Given the description of an element on the screen output the (x, y) to click on. 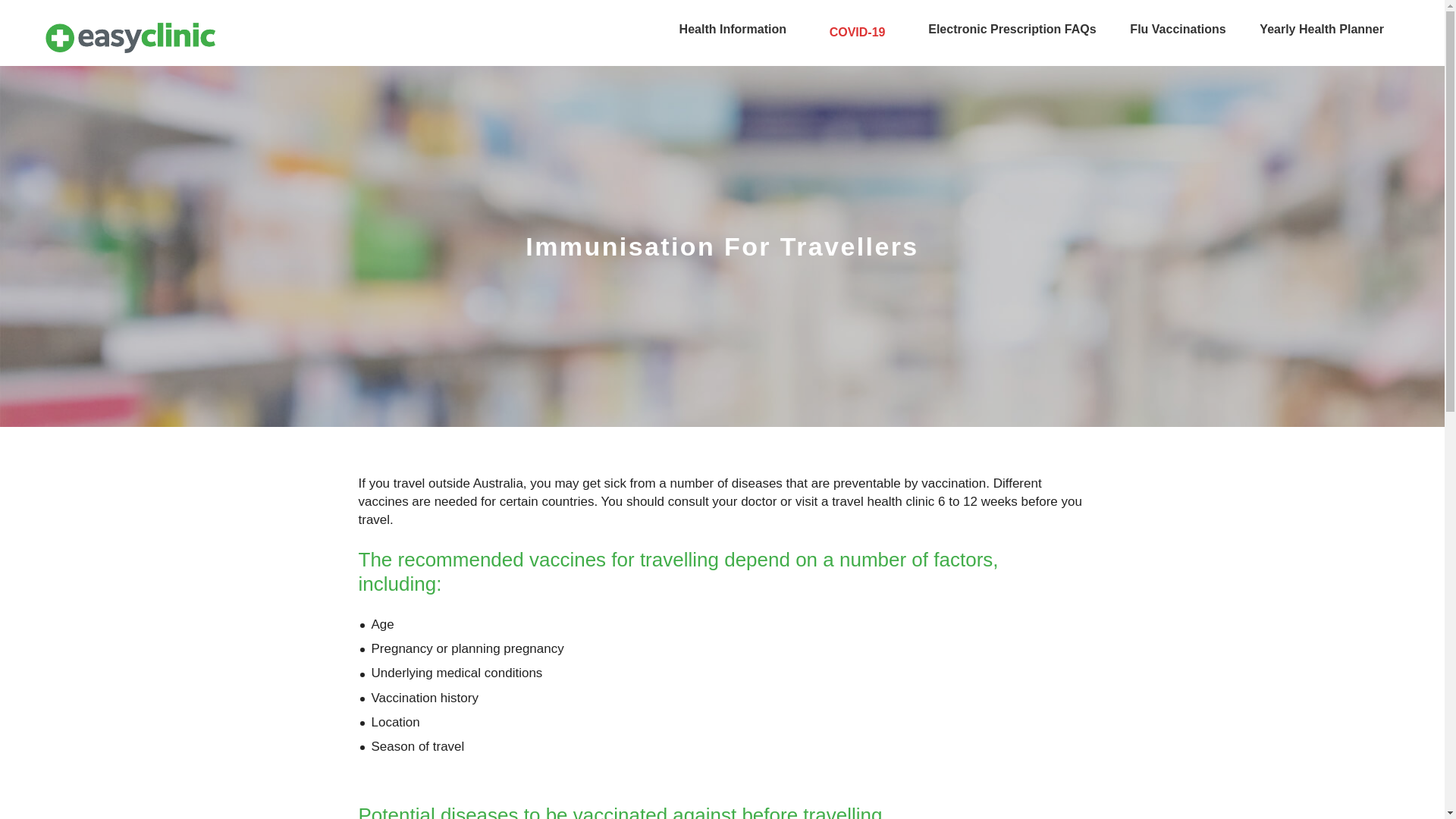
Yearly Health Planner (1321, 29)
Flu Vaccinations (1177, 29)
COVID-19 (857, 32)
Electronic Prescription FAQs (1011, 29)
Health Information (732, 29)
